Given the description of an element on the screen output the (x, y) to click on. 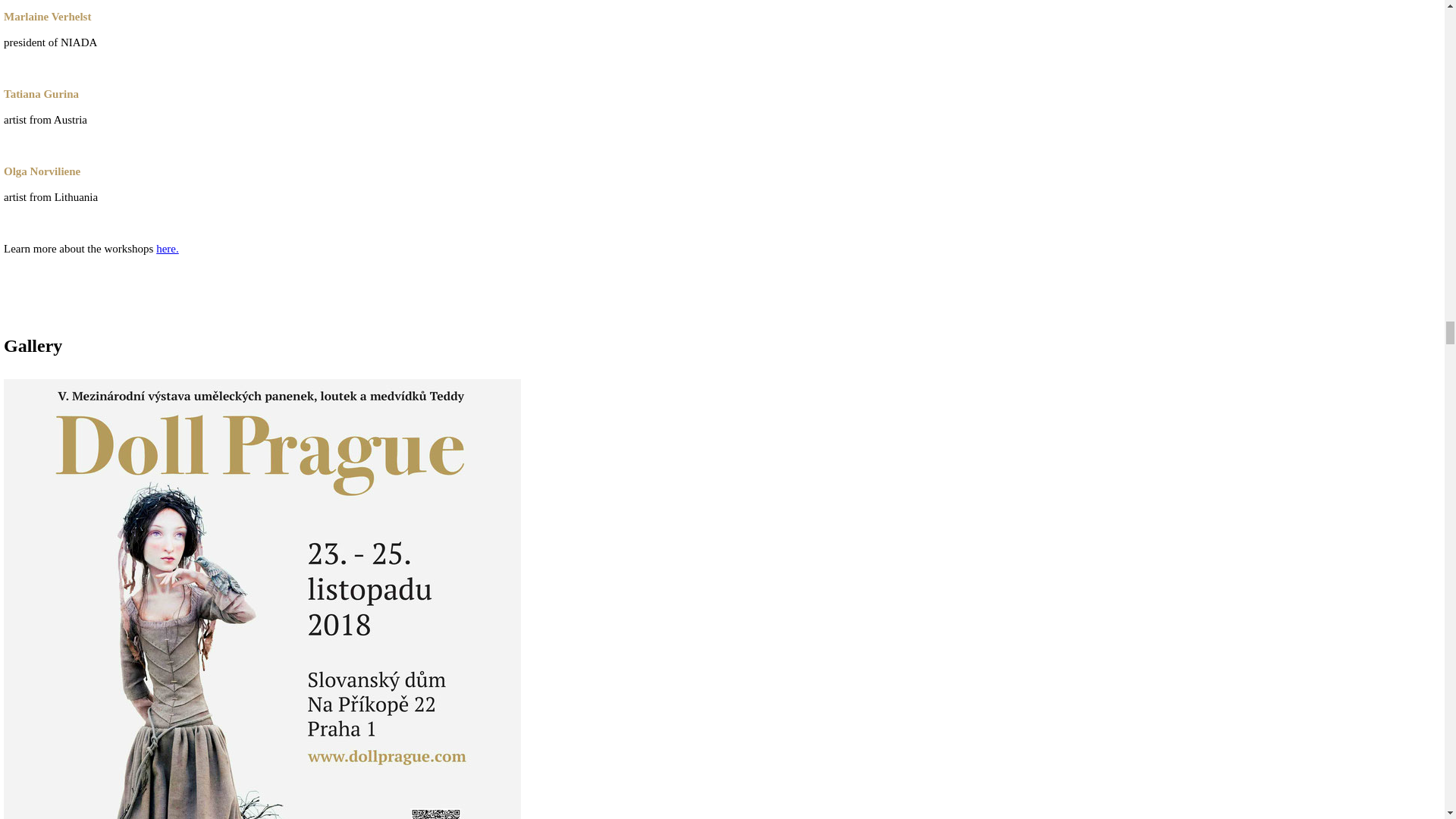
here. (167, 248)
Workshops (167, 248)
